Given the description of an element on the screen output the (x, y) to click on. 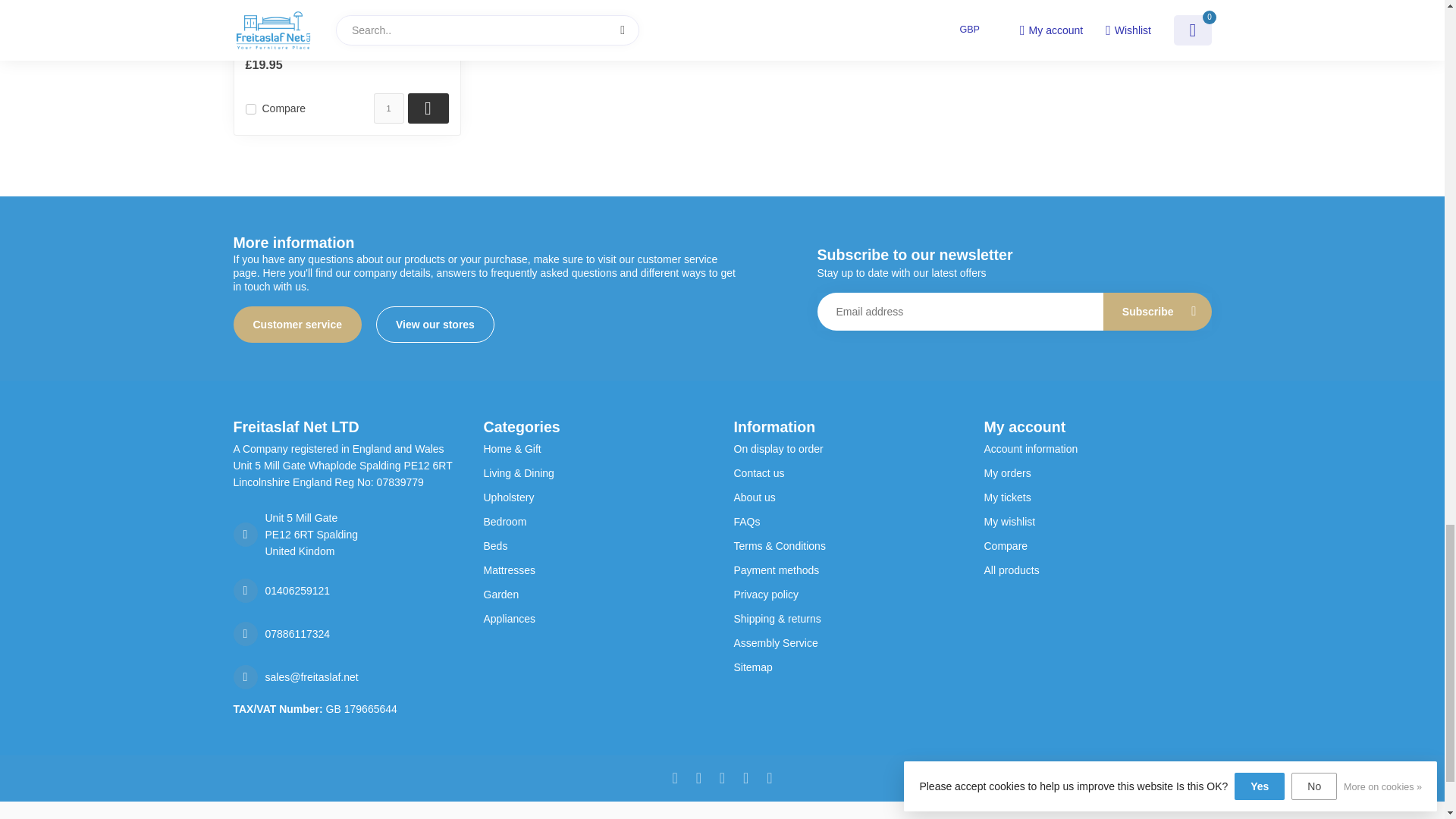
FAQs (846, 521)
1 (387, 108)
Privacy policy (846, 594)
Assembly Service (846, 642)
Payment methods (846, 569)
Sitemap (846, 667)
On display to order (846, 448)
About us (846, 497)
Contact us (846, 473)
